Given the description of an element on the screen output the (x, y) to click on. 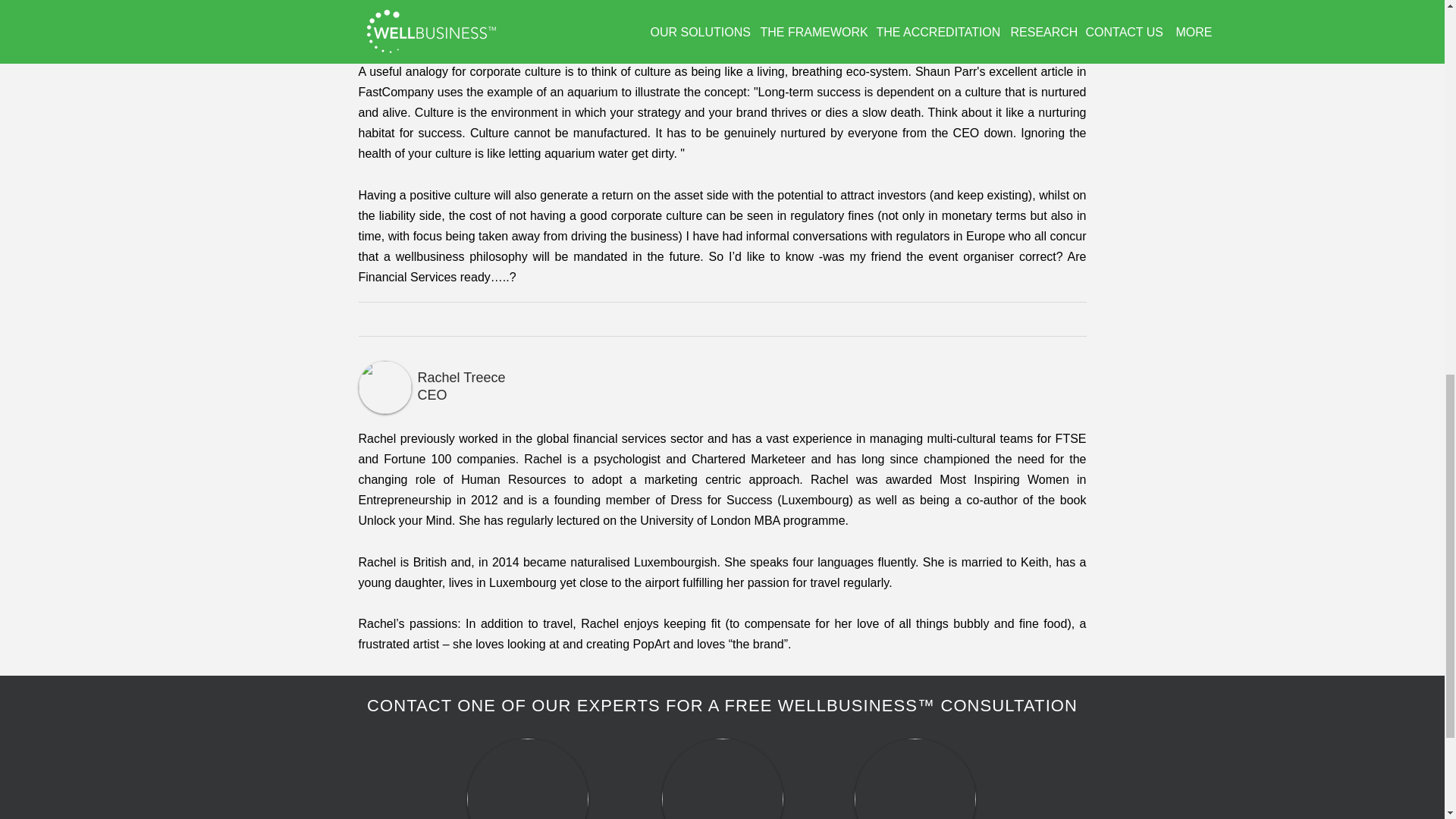
Pin to Pinterest (435, 319)
Twitter Tweet (381, 319)
